Given the description of an element on the screen output the (x, y) to click on. 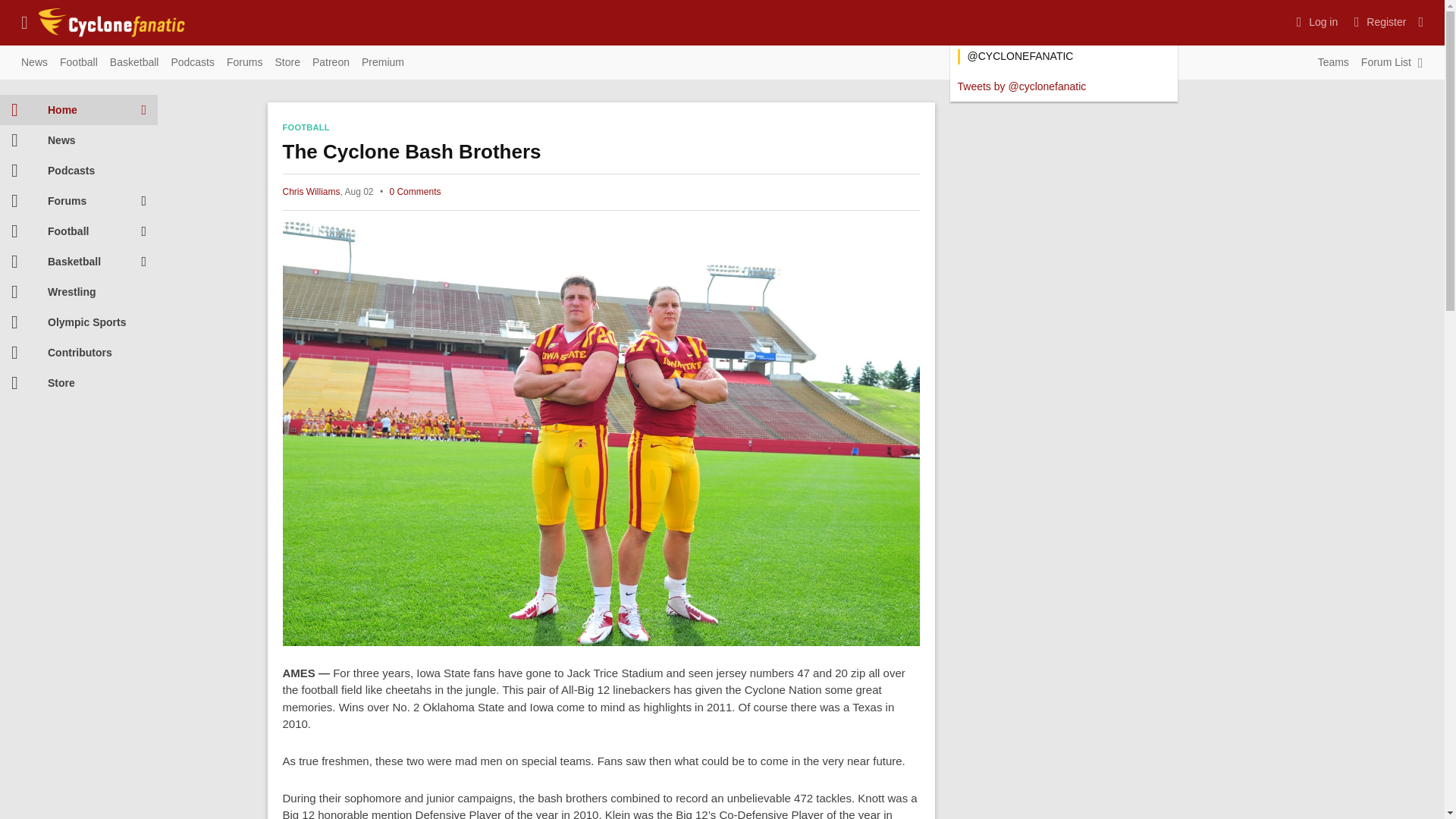
Register (1377, 21)
Football (78, 63)
Basketball (134, 63)
Premium (382, 63)
Log in (1314, 21)
Forums (244, 63)
Store (286, 63)
Patreon (330, 63)
Forum List (1385, 63)
